Given the description of an element on the screen output the (x, y) to click on. 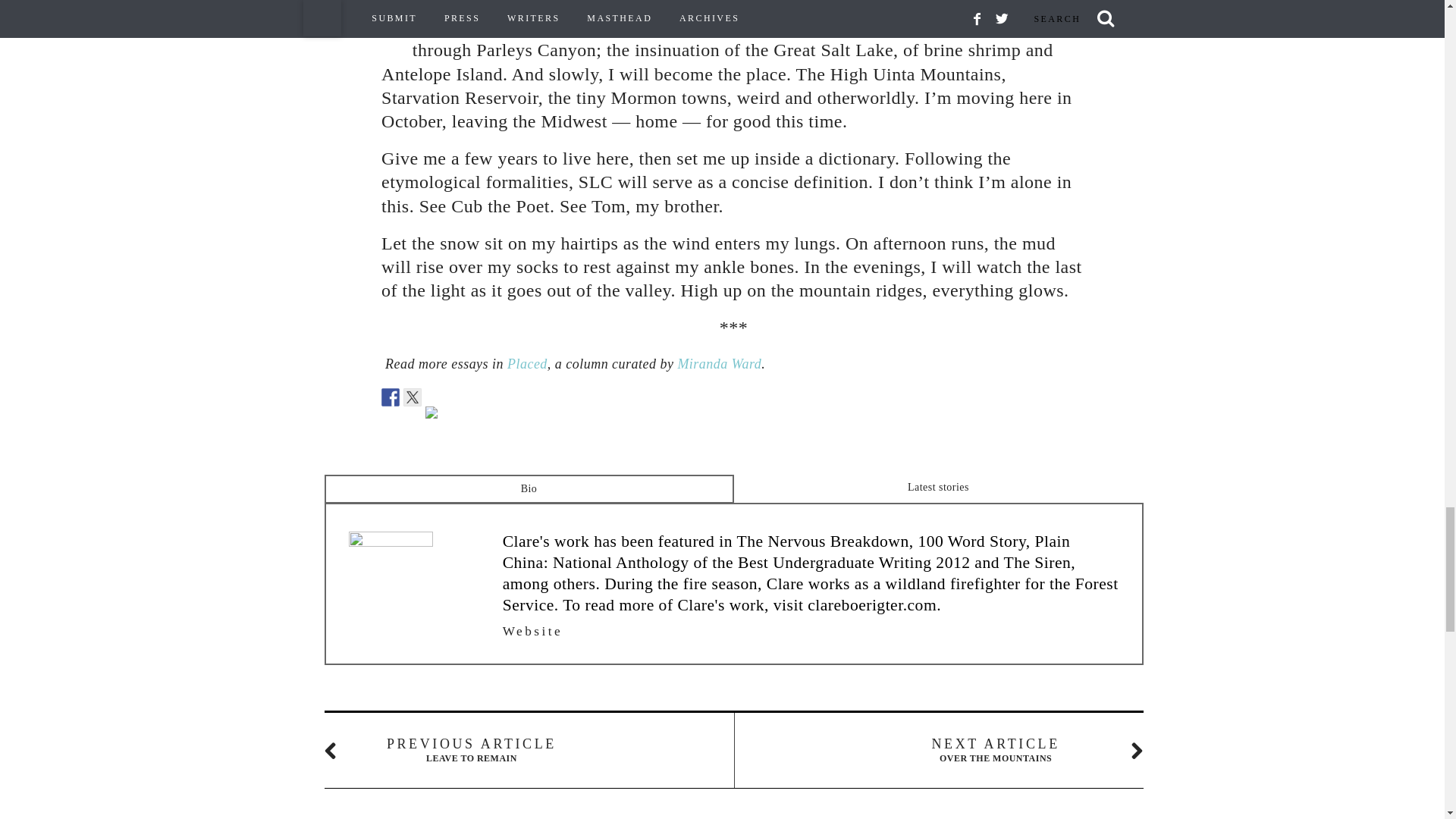
Share on Reddit (432, 412)
Share on Facebook (389, 397)
Share on Twitter (412, 397)
Share on Reddit (434, 415)
